Given the description of an element on the screen output the (x, y) to click on. 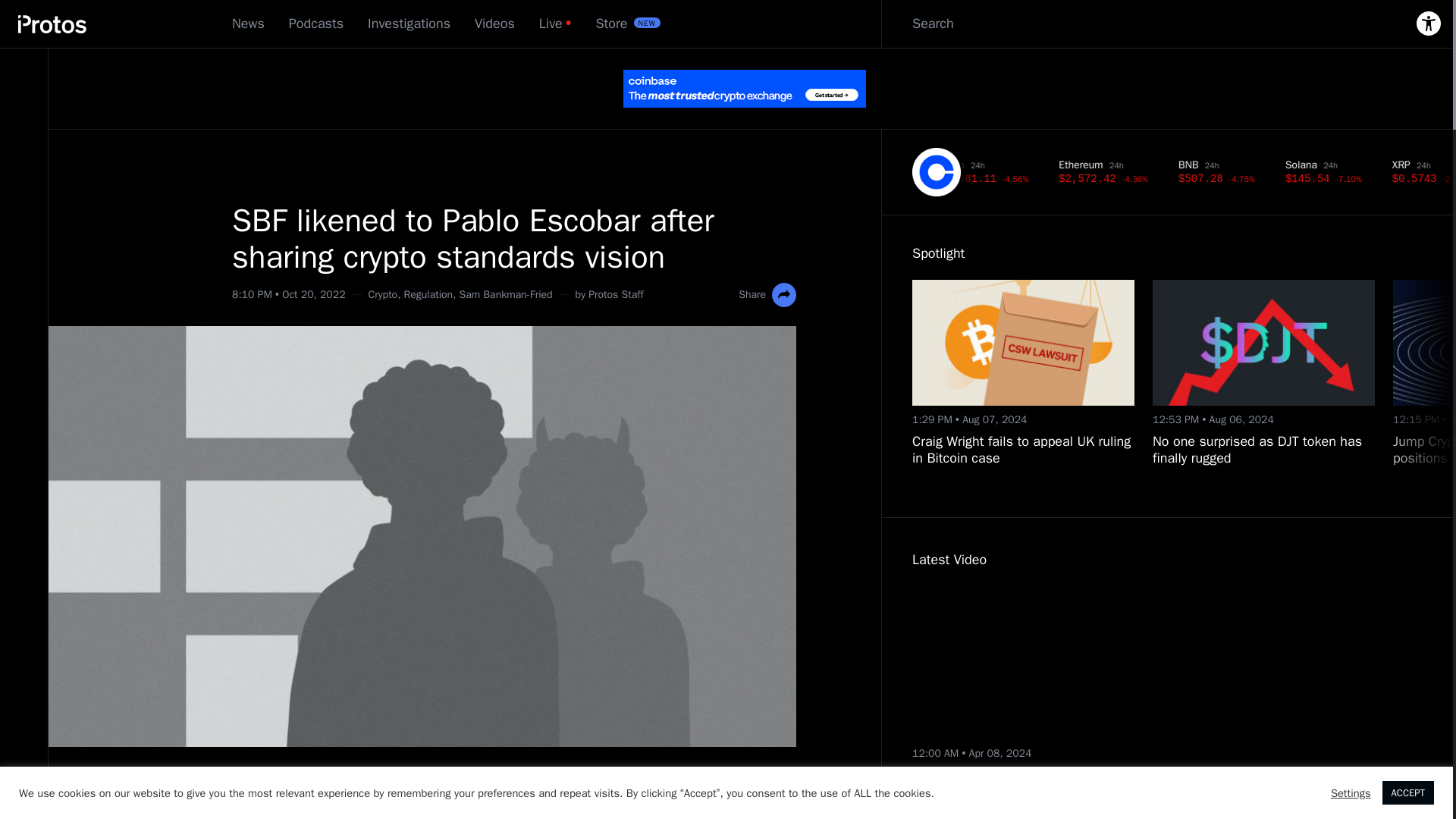
Regulation (428, 294)
Crypto (382, 294)
Investigations (408, 23)
Sam Bankman-Fried (506, 294)
Podcasts (315, 23)
Protos Staff (615, 294)
YouTube video player (1051, 662)
